Given the description of an element on the screen output the (x, y) to click on. 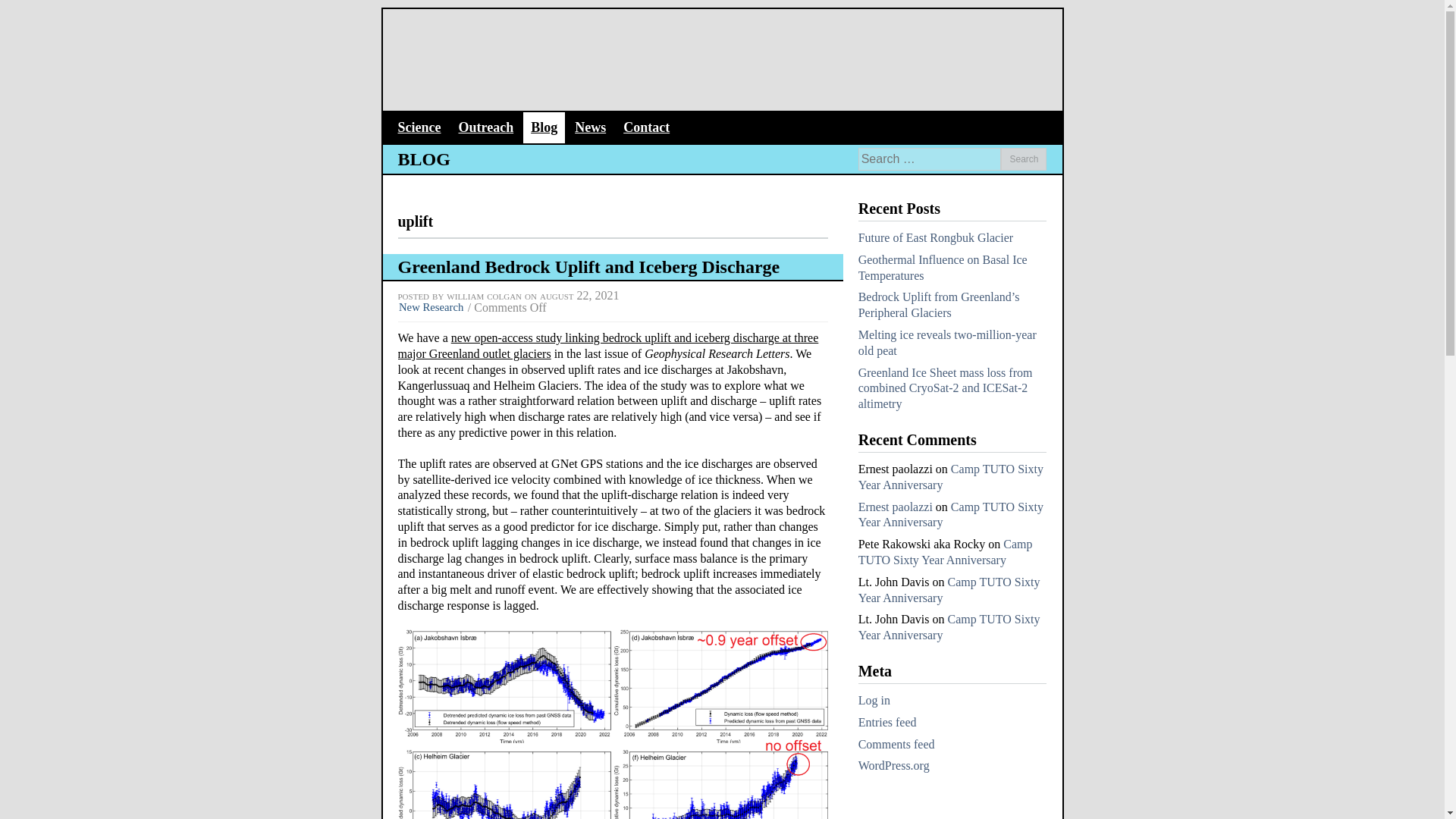
Future of East Rongbuk Glacier (936, 237)
Geothermal Influence on Basal Ice Temperatures (943, 267)
Camp TUTO Sixty Year Anniversary (950, 589)
Greenland Bedrock Uplift and Iceberg Discharge (587, 266)
Log in (874, 699)
Search (1023, 159)
Camp TUTO Sixty Year Anniversary (945, 551)
Science (419, 127)
Blog (543, 127)
Outreach (485, 127)
